Given the description of an element on the screen output the (x, y) to click on. 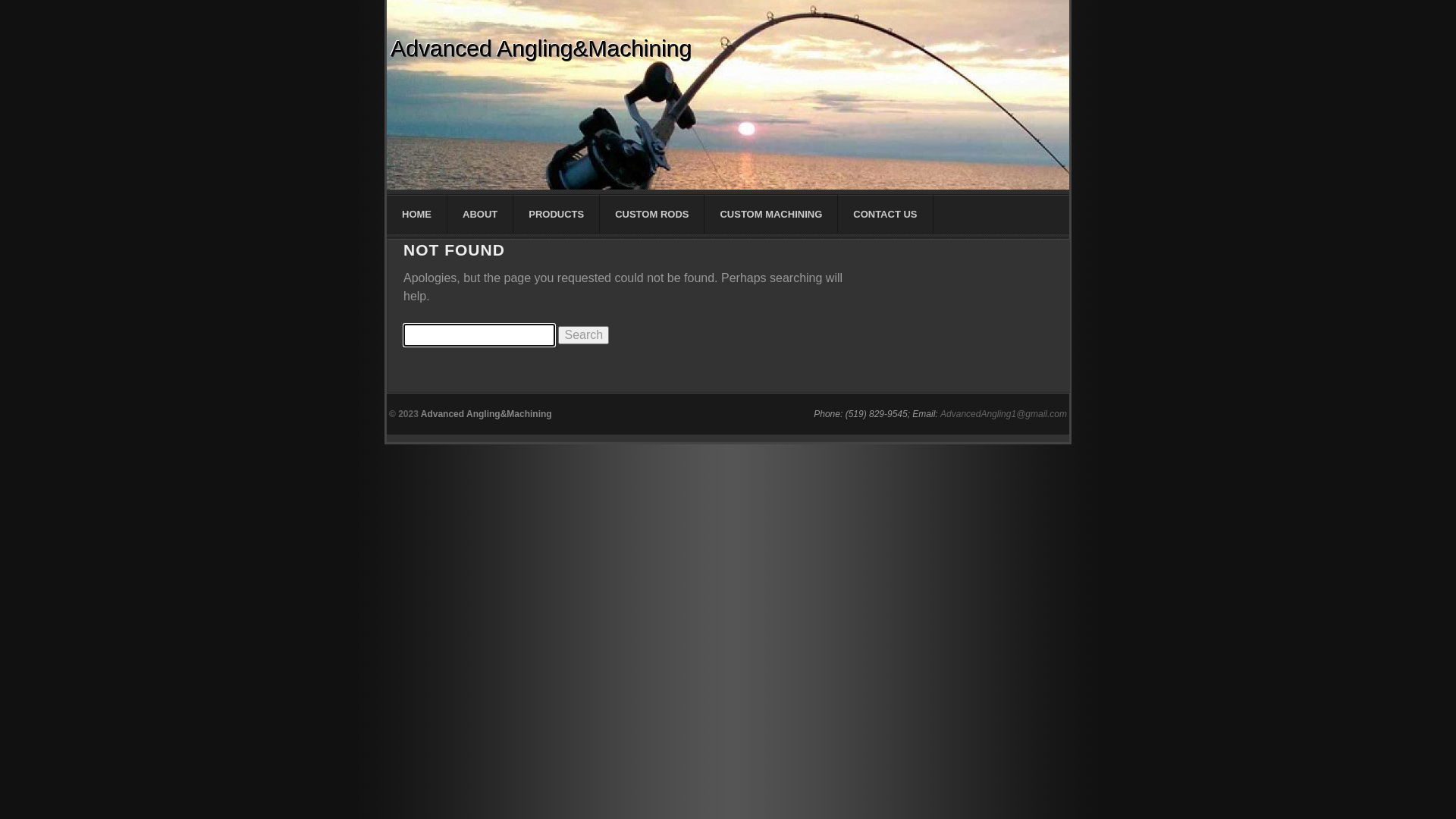
HOME Element type: text (416, 213)
Advanced Angling&Machining Element type: text (540, 48)
ABOUT Element type: text (480, 213)
Search Element type: text (583, 335)
CONTACT US Element type: text (884, 213)
AdvancedAngling1@gmail.com Element type: text (1003, 413)
Advanced Angling&Machining Element type: text (486, 413)
CUSTOM MACHINING Element type: text (770, 213)
CUSTOM RODS Element type: text (651, 213)
PRODUCTS Element type: text (556, 213)
